Given the description of an element on the screen output the (x, y) to click on. 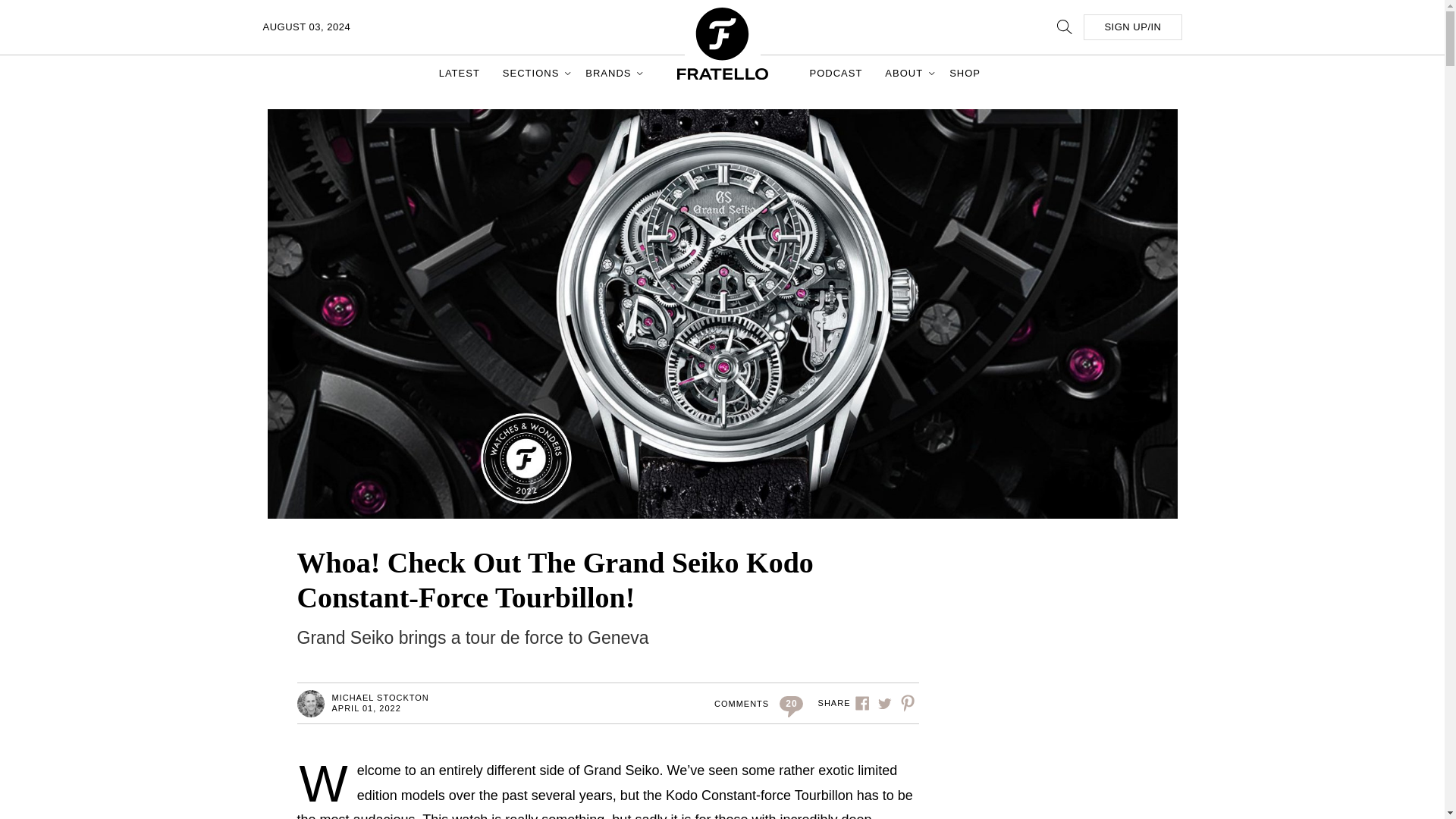
SECTIONS (532, 72)
LATEST (460, 72)
BRANDS (609, 72)
